Given the description of an element on the screen output the (x, y) to click on. 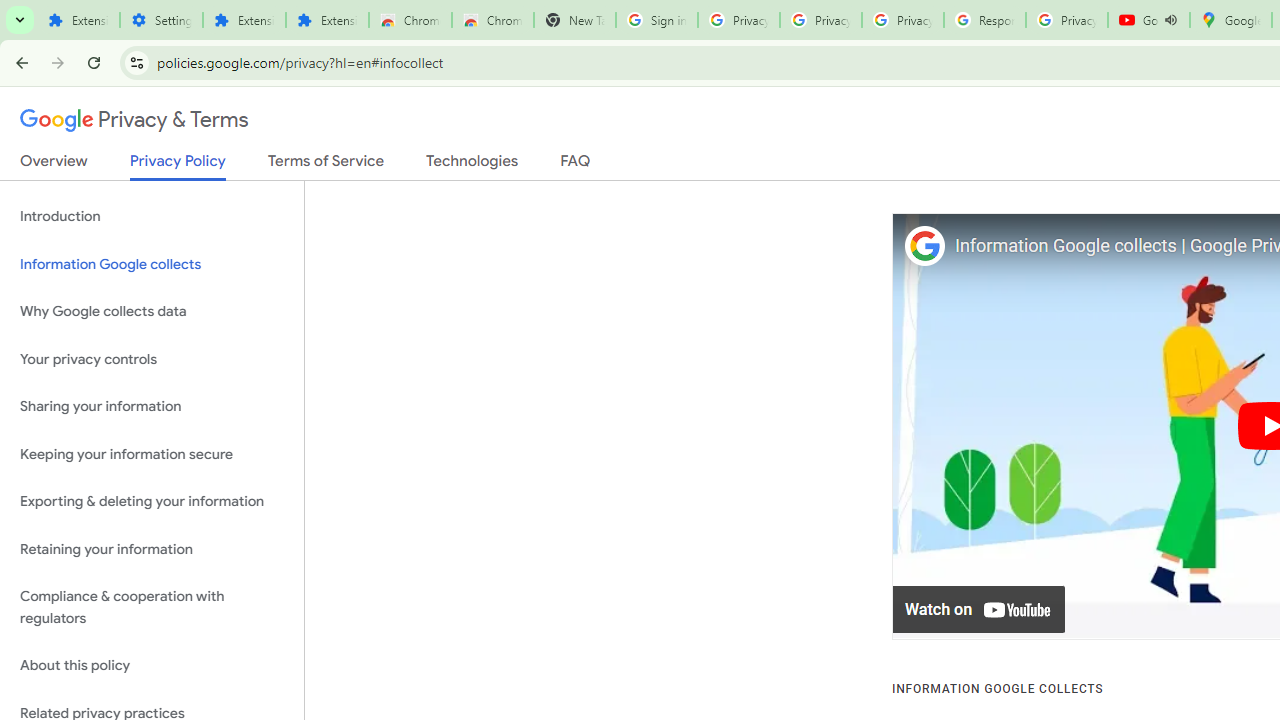
Introduction (152, 216)
Keeping your information secure (152, 453)
Extensions (244, 20)
Why Google collects data (152, 312)
Technologies (472, 165)
Watch on YouTube (979, 610)
Compliance & cooperation with regulators (152, 607)
Chrome Web Store - Themes (492, 20)
Settings (161, 20)
Terms of Service (326, 165)
Privacy & Terms (134, 120)
